Given the description of an element on the screen output the (x, y) to click on. 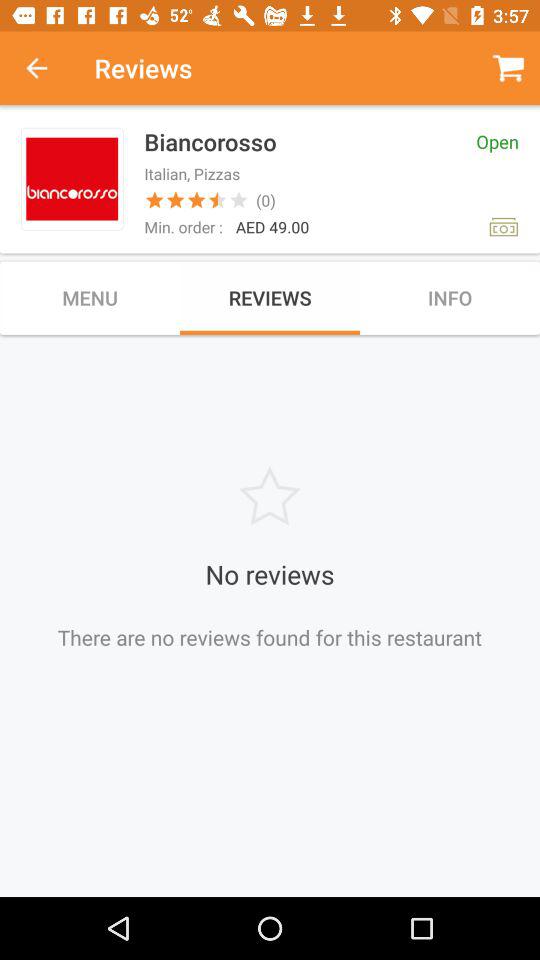
return to the previous screen (47, 68)
